Given the description of an element on the screen output the (x, y) to click on. 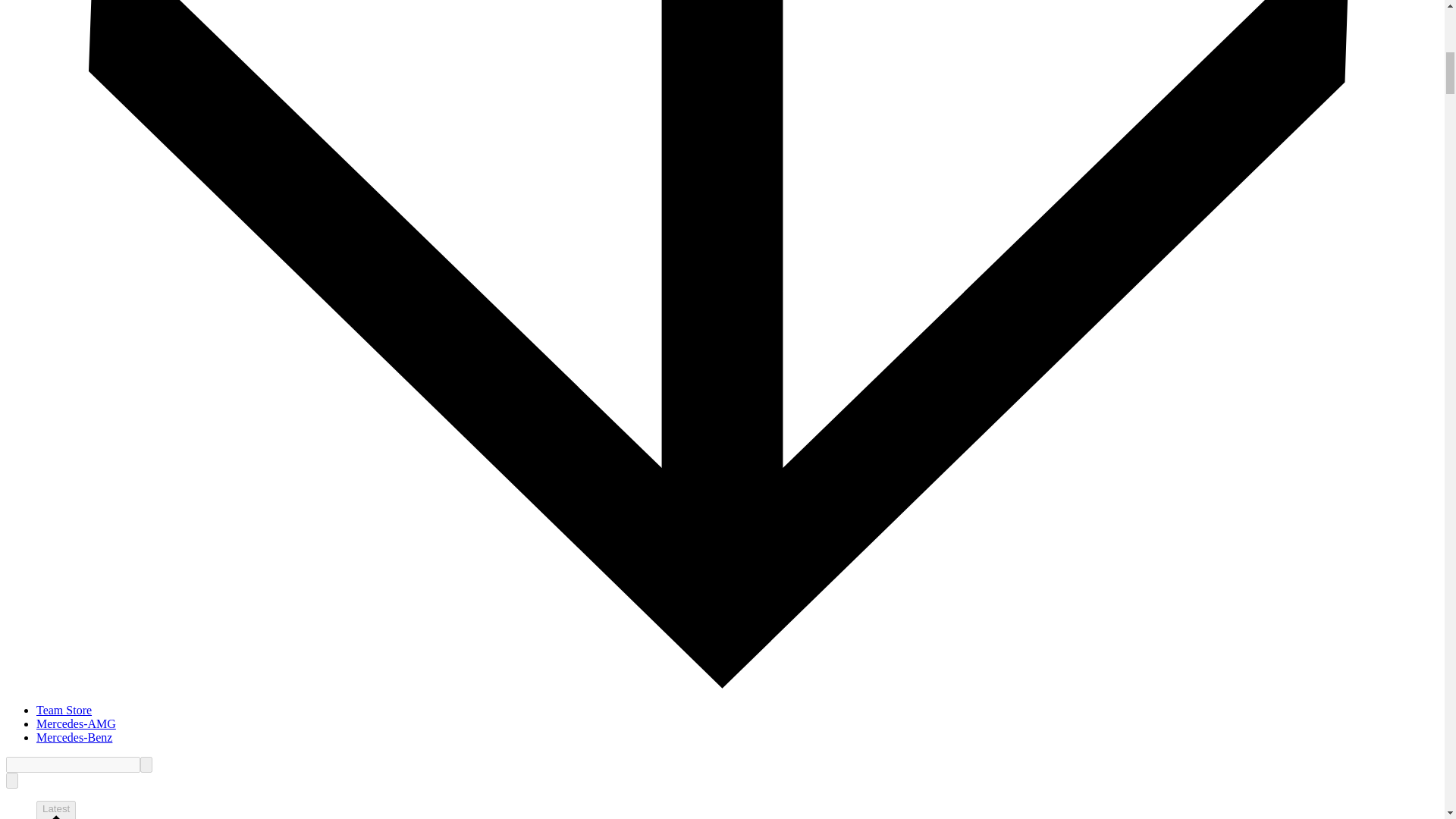
Mercedes-Benz (74, 737)
Team Store (63, 709)
Latest (55, 809)
Mercedes-AMG (76, 723)
